Given the description of an element on the screen output the (x, y) to click on. 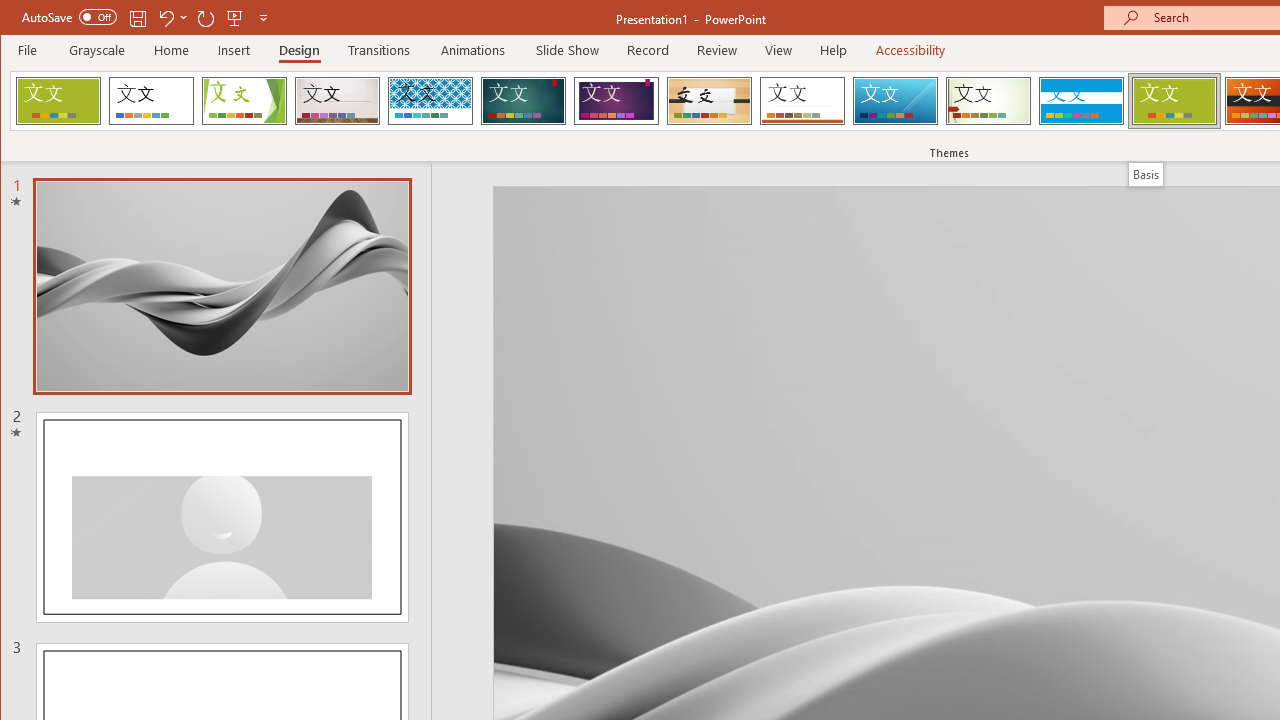
Office Theme (151, 100)
Integral (430, 100)
Slice (895, 100)
Ion Boardroom (616, 100)
